Given the description of an element on the screen output the (x, y) to click on. 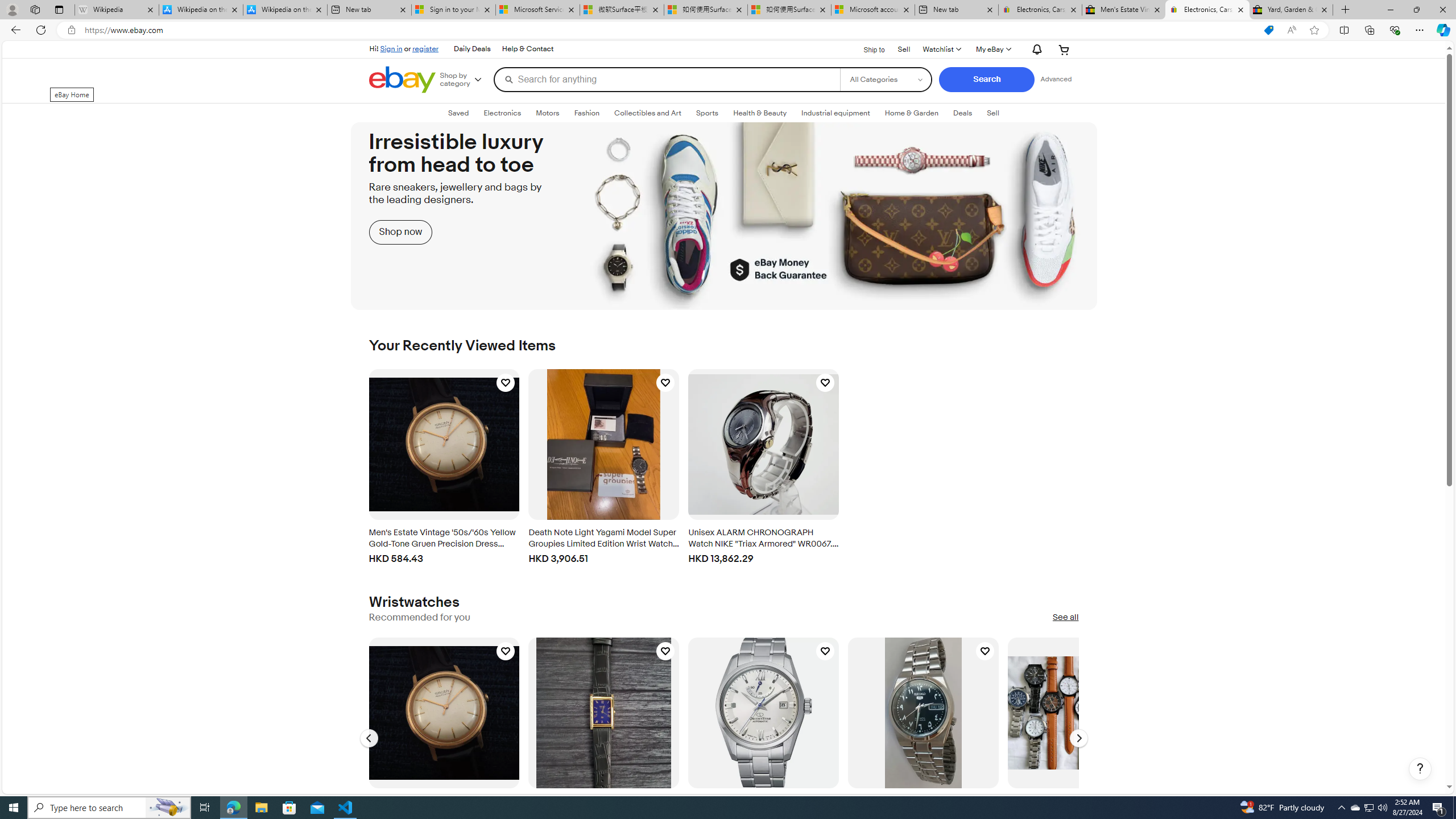
ElectronicsExpand: Electronics (502, 112)
Wristwatches (414, 601)
Collectibles and Art (647, 112)
eBay Home (401, 79)
Sports (707, 112)
Daily Deals (471, 49)
Go to the next slide, Wristwatches - Carousel (1077, 737)
Sell (904, 48)
Advanced Search (1056, 78)
register (425, 48)
Ship to (866, 49)
My eBay (992, 49)
